Given the description of an element on the screen output the (x, y) to click on. 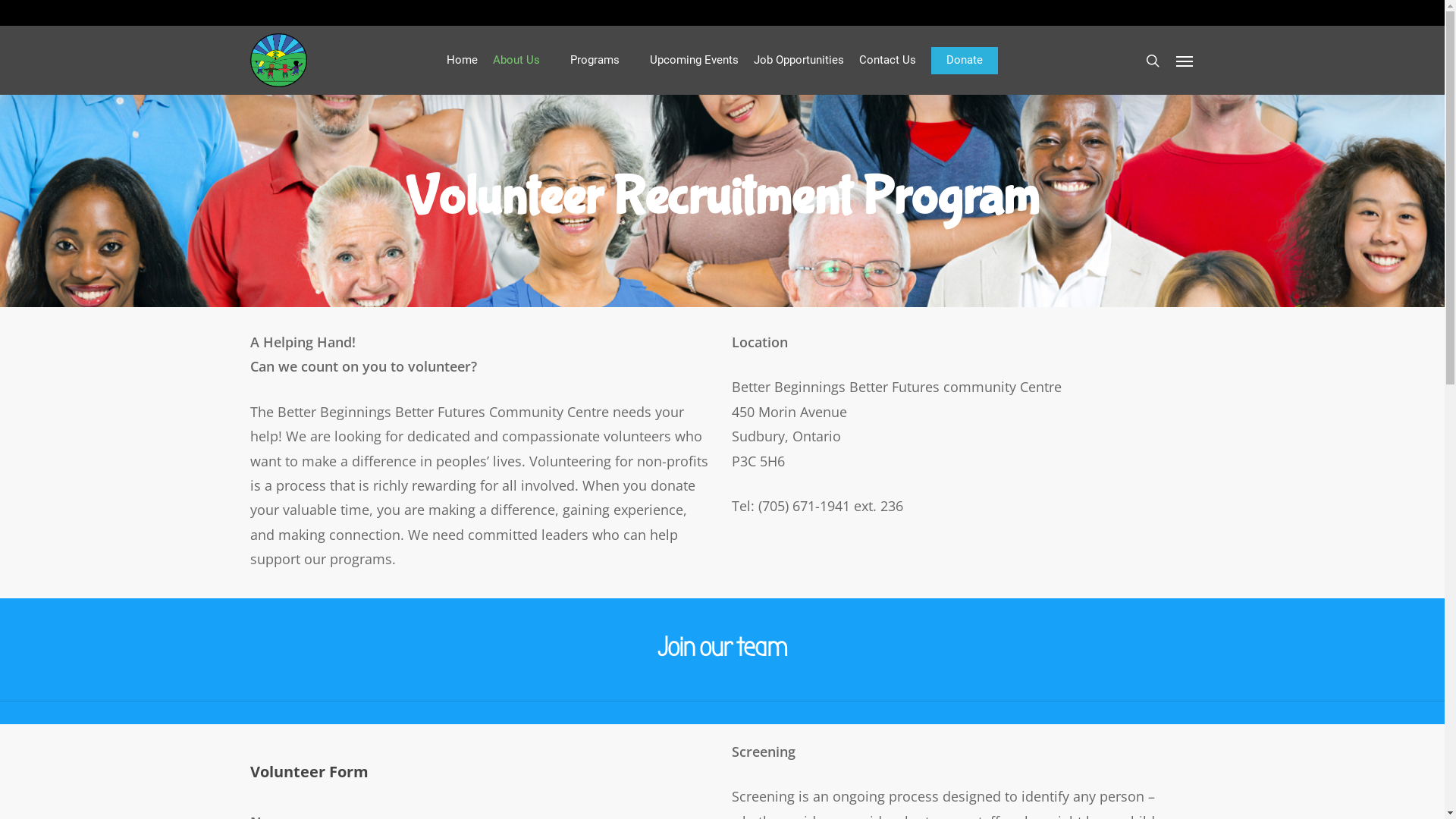
Job Opportunities Element type: text (798, 60)
Contact Us Element type: text (887, 60)
Donate Element type: text (964, 60)
Programs Element type: text (602, 60)
0 Element type: text (1177, 67)
Home Element type: text (462, 60)
About Us Element type: text (523, 60)
Upcoming Events Element type: text (694, 60)
